Given the description of an element on the screen output the (x, y) to click on. 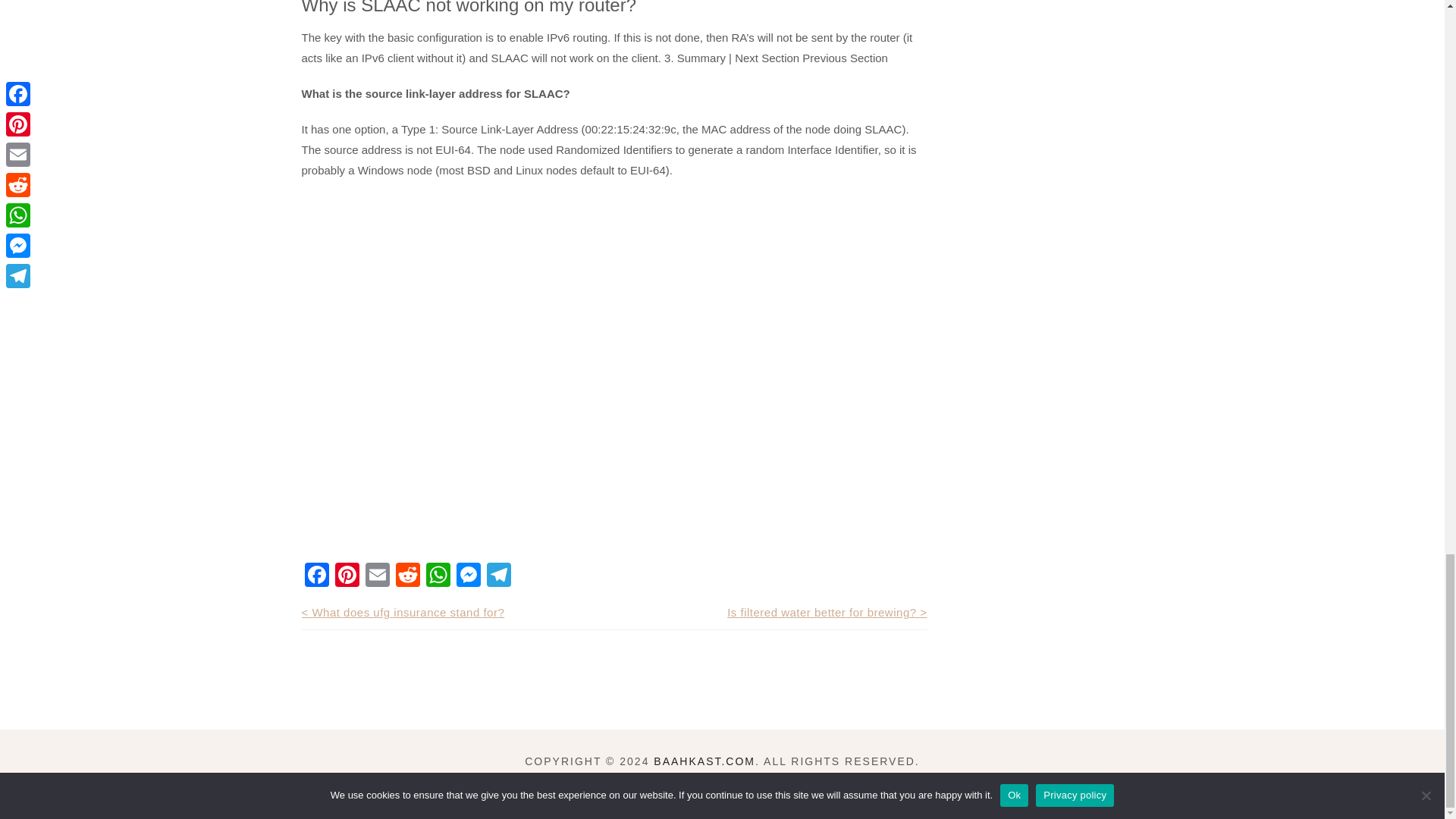
Messenger (467, 576)
VolThemes (697, 779)
Pinterest (346, 576)
VOLTHEMES (697, 779)
BAAHKAST.COM (704, 761)
Email (377, 576)
Telegram (498, 576)
Telegram (498, 576)
Facebook (316, 576)
Pinterest (346, 576)
WhatsApp (437, 576)
WordPress (878, 779)
Baahkast.com (704, 761)
Reddit (408, 576)
Facebook (316, 576)
